Given the description of an element on the screen output the (x, y) to click on. 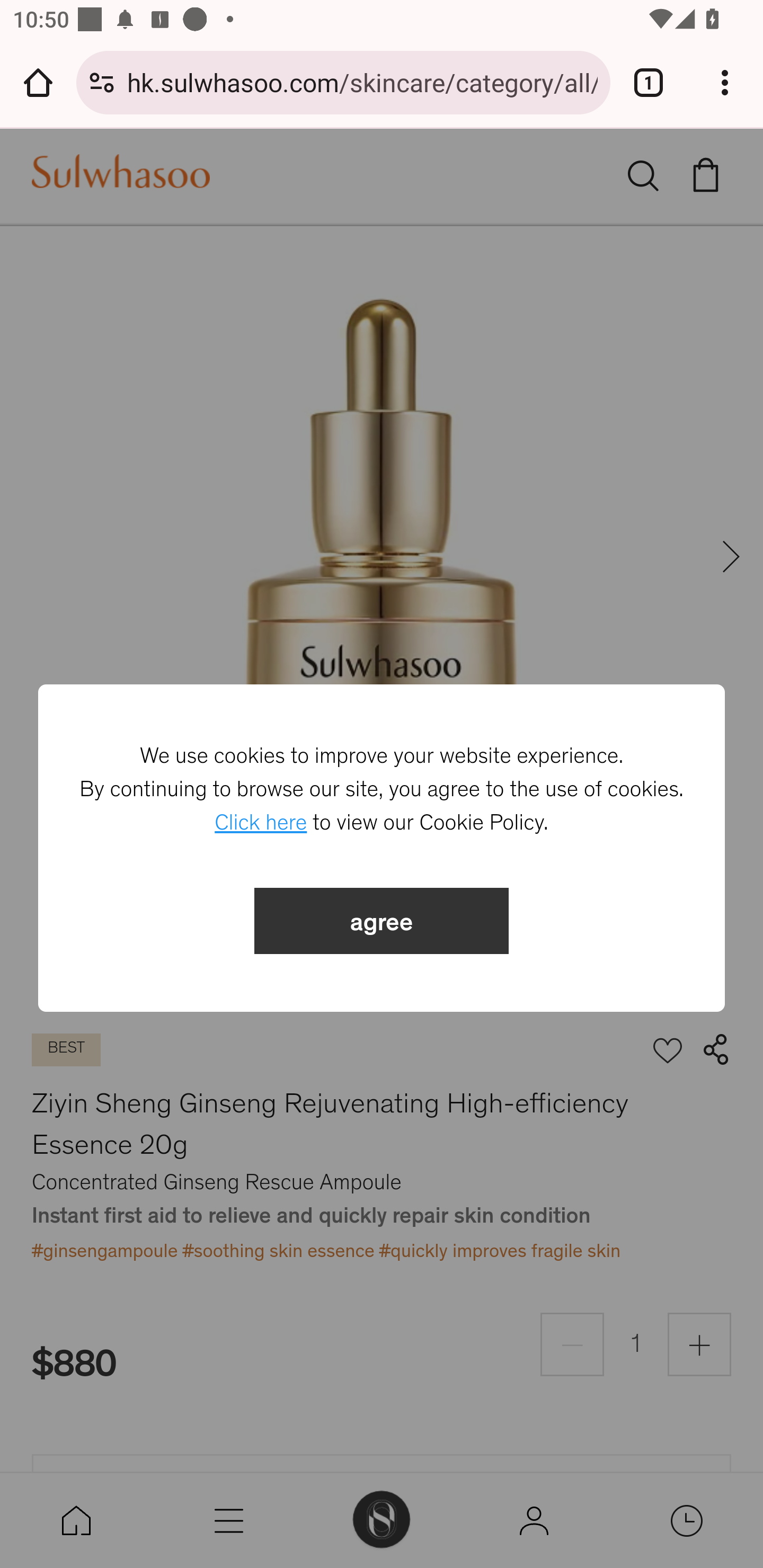
Open the home page (38, 82)
Connection is secure (101, 82)
Switch or close tabs (648, 82)
Customize and control Google Chrome (724, 82)
Click here (261, 822)
agree (381, 920)
